Given the description of an element on the screen output the (x, y) to click on. 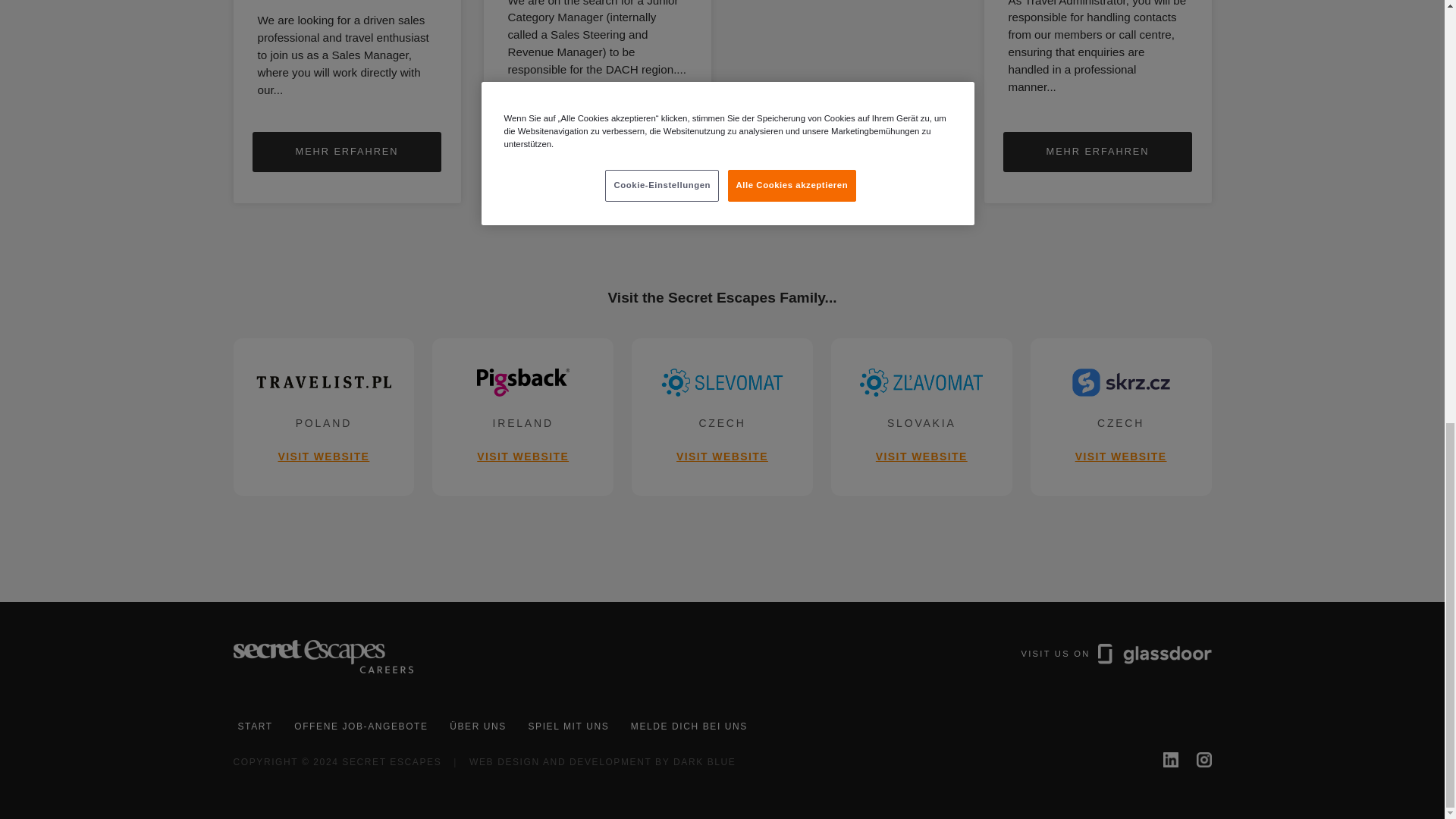
DARK BLUE (522, 417)
FOLLOW US ON (721, 417)
MEHR ERFAHREN (323, 417)
SPIEL MIT UNS (703, 761)
START (1196, 758)
MEHR ERFAHREN (346, 151)
VISIT US ON (567, 726)
MELDE DICH BEI UNS (255, 726)
OFFENE JOB-ANGEBOTE (596, 151)
MEHR ERFAHREN (921, 417)
